Given the description of an element on the screen output the (x, y) to click on. 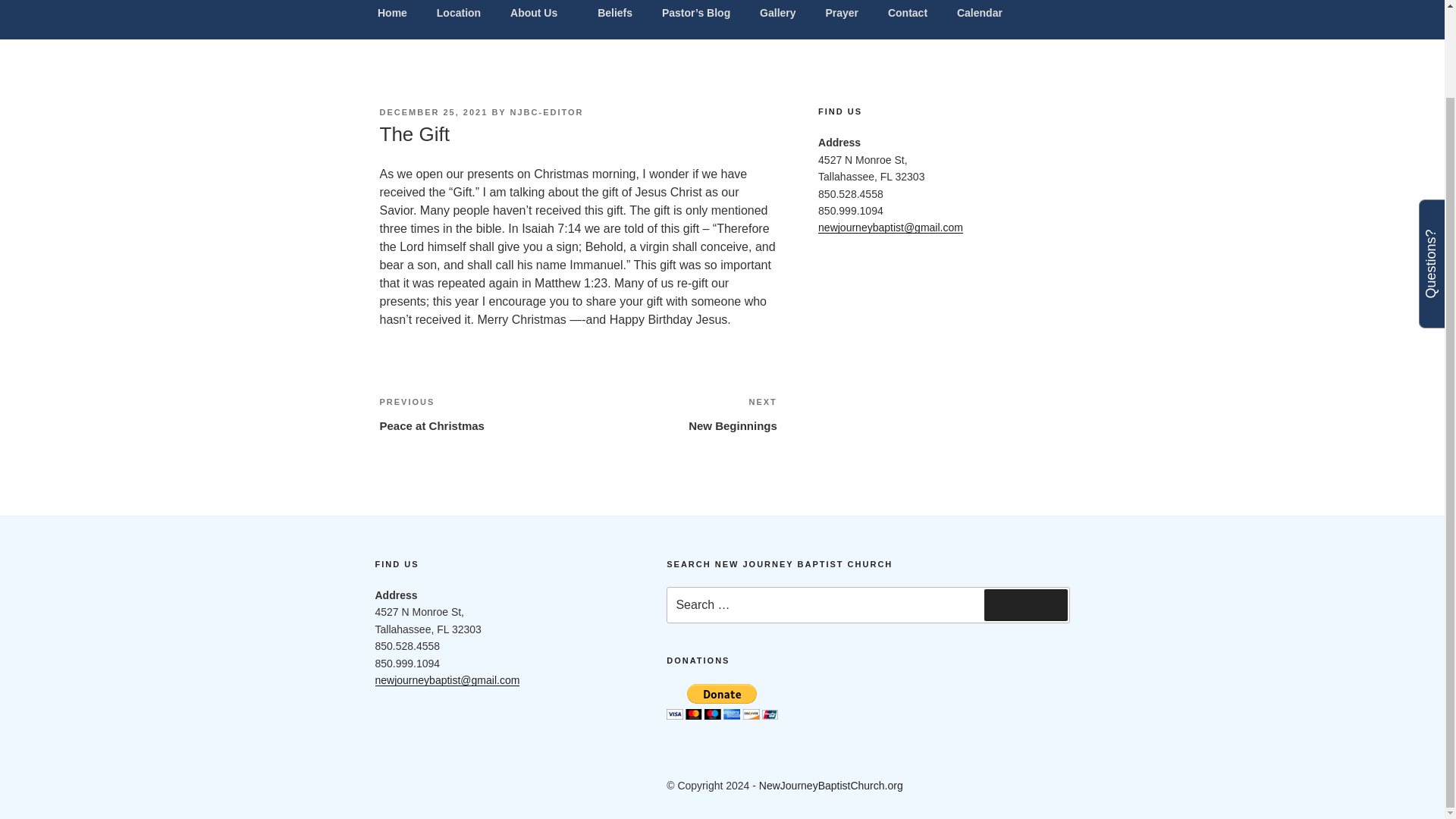
Search (1025, 604)
Email (474, 786)
Beliefs (615, 15)
PayPal - The safer, easier way to pay online! (721, 701)
Calendar (478, 413)
Gallery (978, 15)
Location (777, 15)
Prayer (458, 15)
Contact (842, 15)
